Given the description of an element on the screen output the (x, y) to click on. 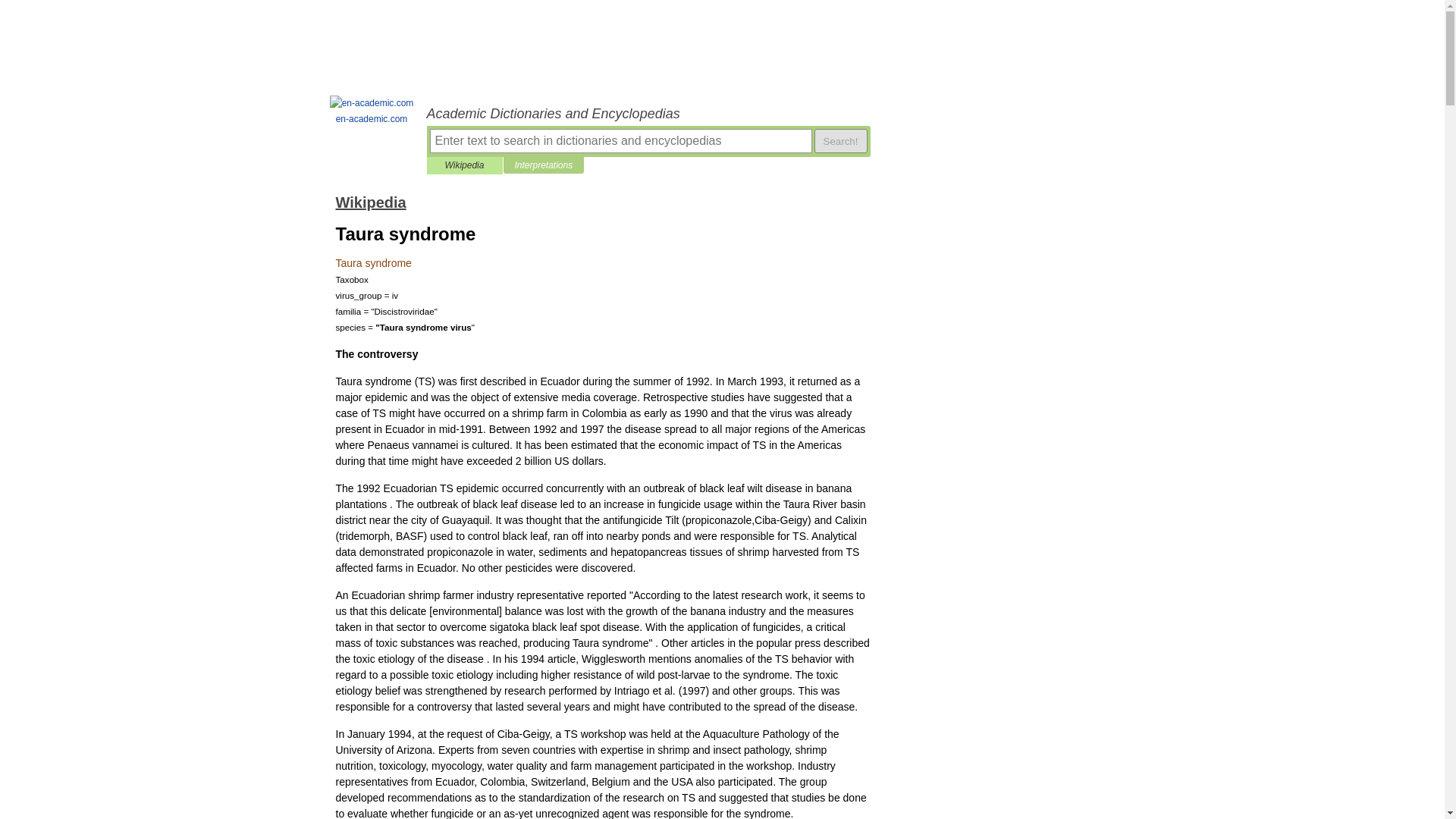
Search! (840, 140)
Wikipedia (465, 165)
Enter text to search in dictionaries and encyclopedias (619, 140)
en-academic.com (371, 111)
Wikipedia (370, 202)
Academic Dictionaries and Encyclopedias (647, 114)
Interpretations (542, 165)
